Given the description of an element on the screen output the (x, y) to click on. 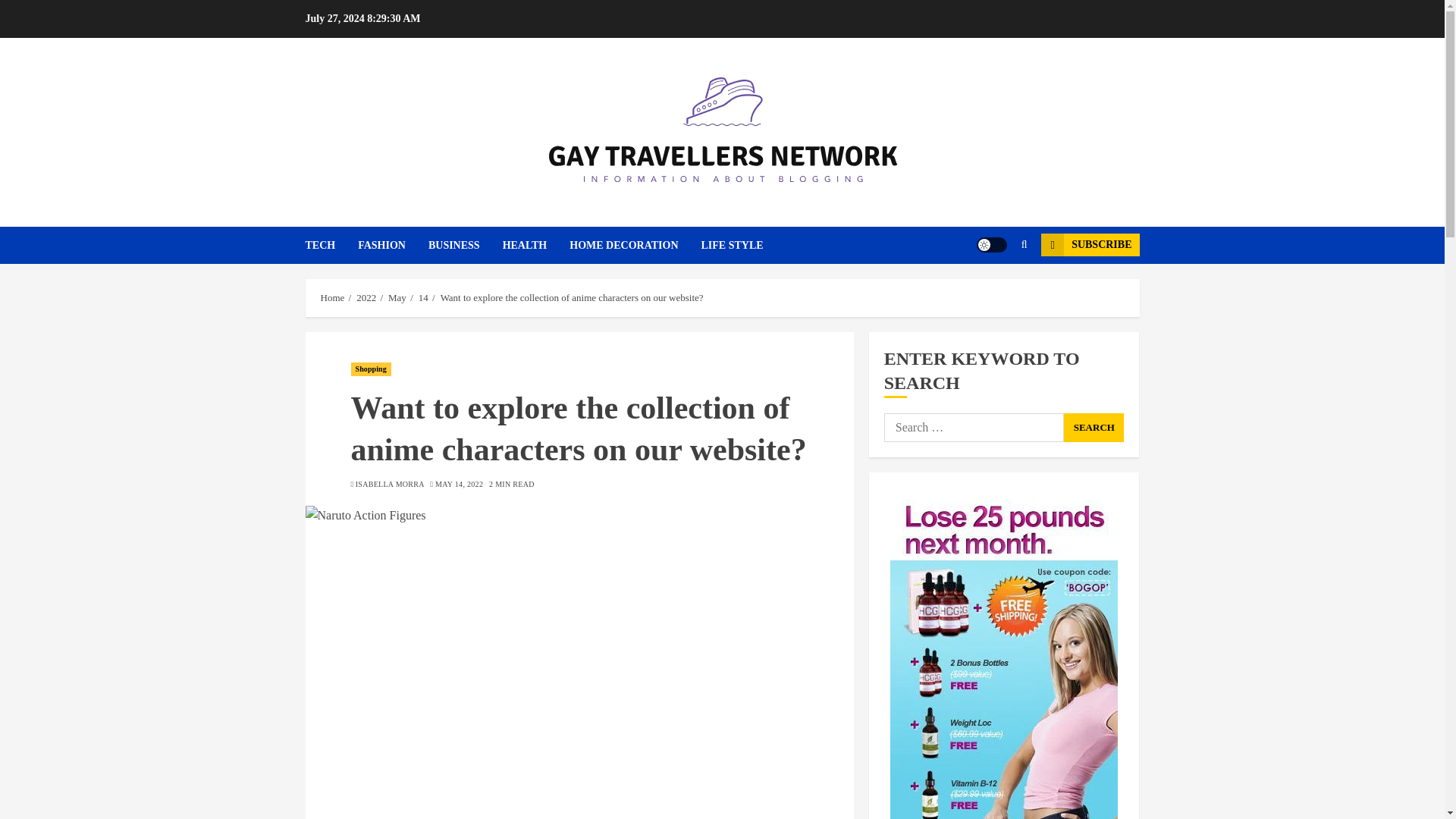
Search (1094, 427)
Search (994, 290)
Search (1094, 427)
MAY 14, 2022 (459, 484)
SUBSCRIBE (1089, 244)
Home (331, 297)
Search (1094, 427)
TECH (331, 244)
BUSINESS (465, 244)
HOME DECORATION (634, 244)
May (397, 297)
Shopping (370, 368)
LIFE STYLE (731, 244)
2022 (365, 297)
ISABELLA MORRA (390, 484)
